Given the description of an element on the screen output the (x, y) to click on. 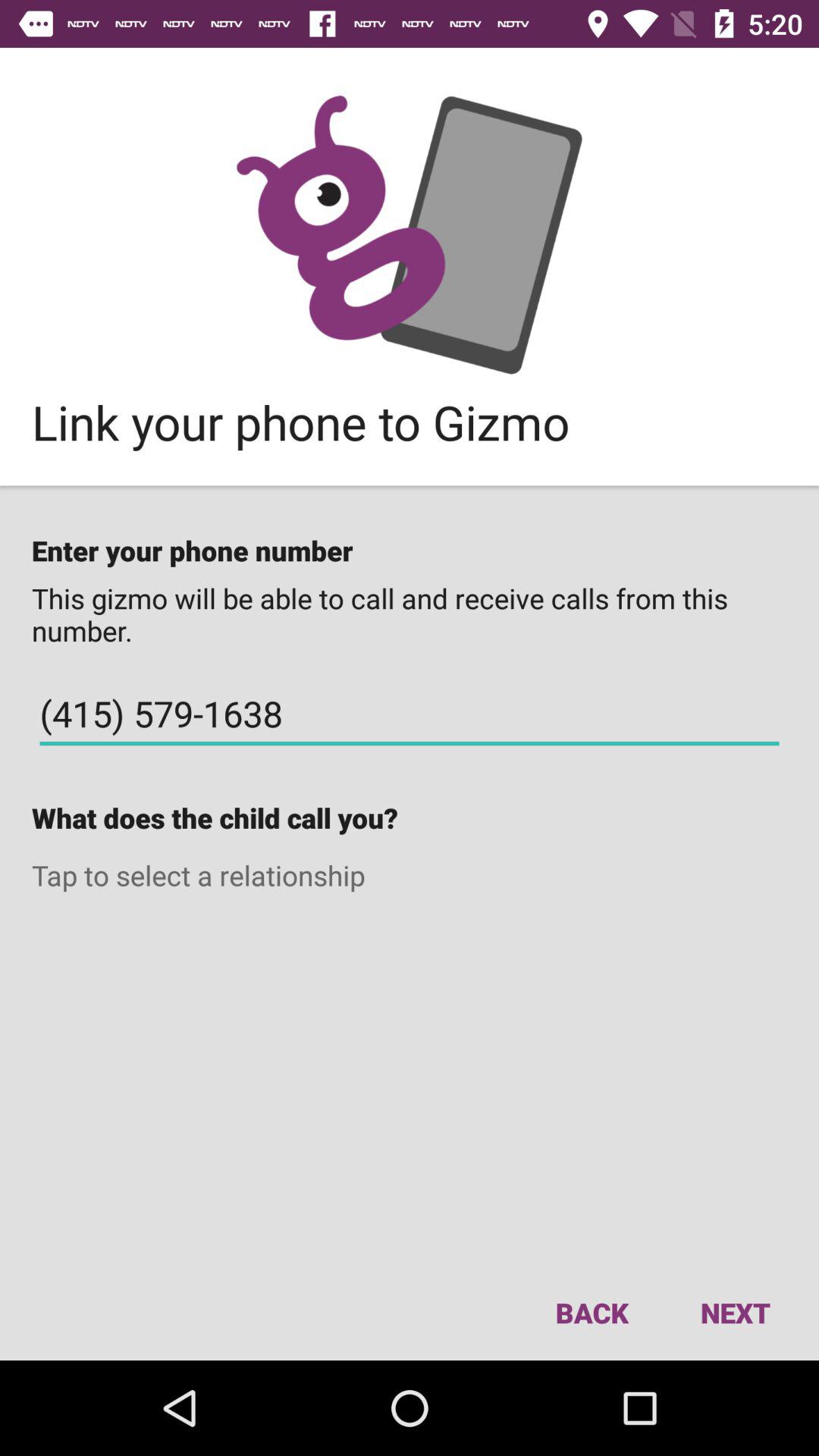
flip until (415) 579-1638 (409, 714)
